Given the description of an element on the screen output the (x, y) to click on. 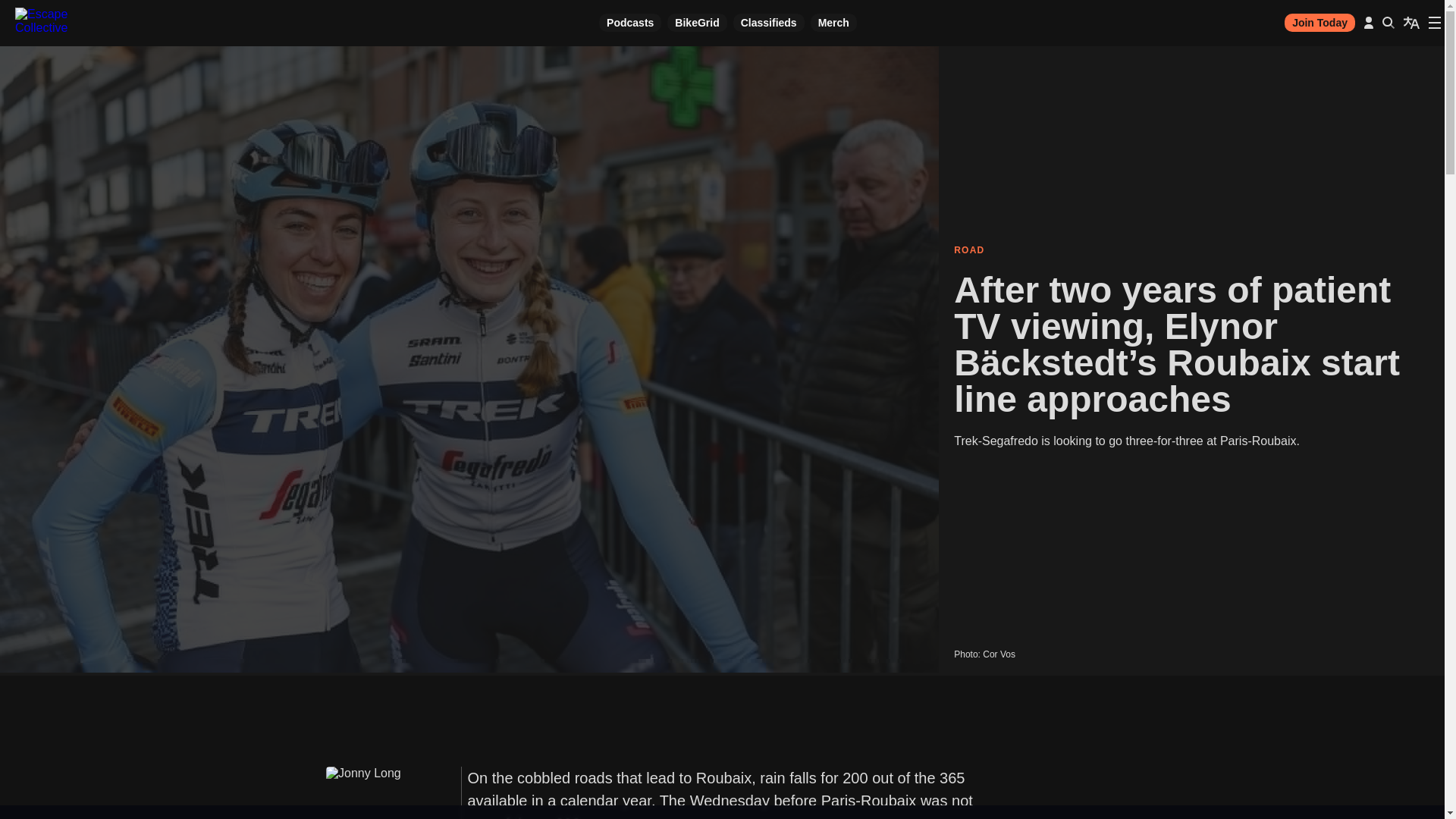
Join Today (1319, 22)
Classifieds (769, 22)
BikeGrid (696, 22)
ROAD (1191, 250)
Podcasts (629, 22)
Merch (833, 22)
